Given the description of an element on the screen output the (x, y) to click on. 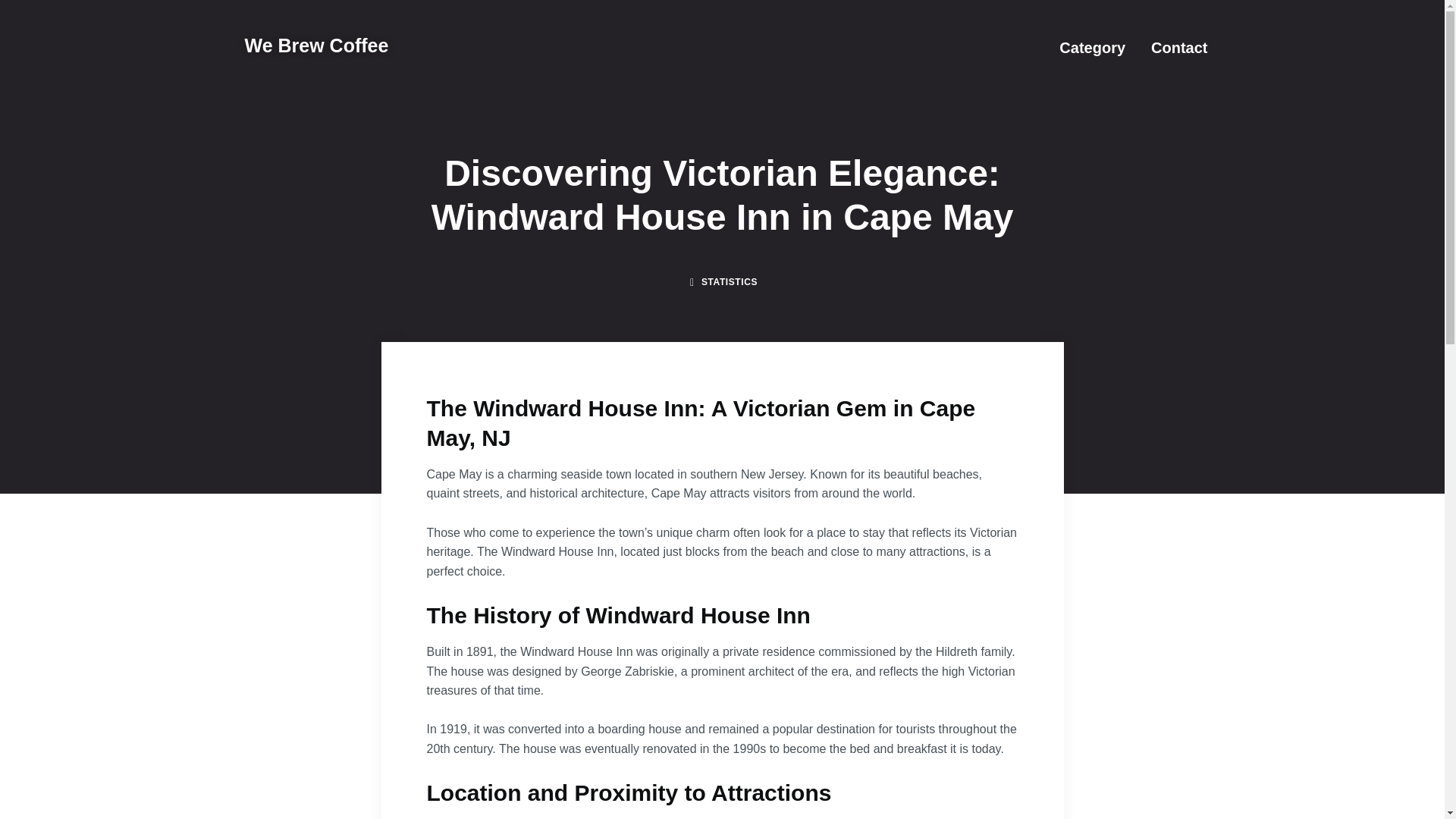
STATISTICS (729, 281)
Contact (1179, 47)
Category (1092, 47)
We Brew Coffee (316, 45)
